Given the description of an element on the screen output the (x, y) to click on. 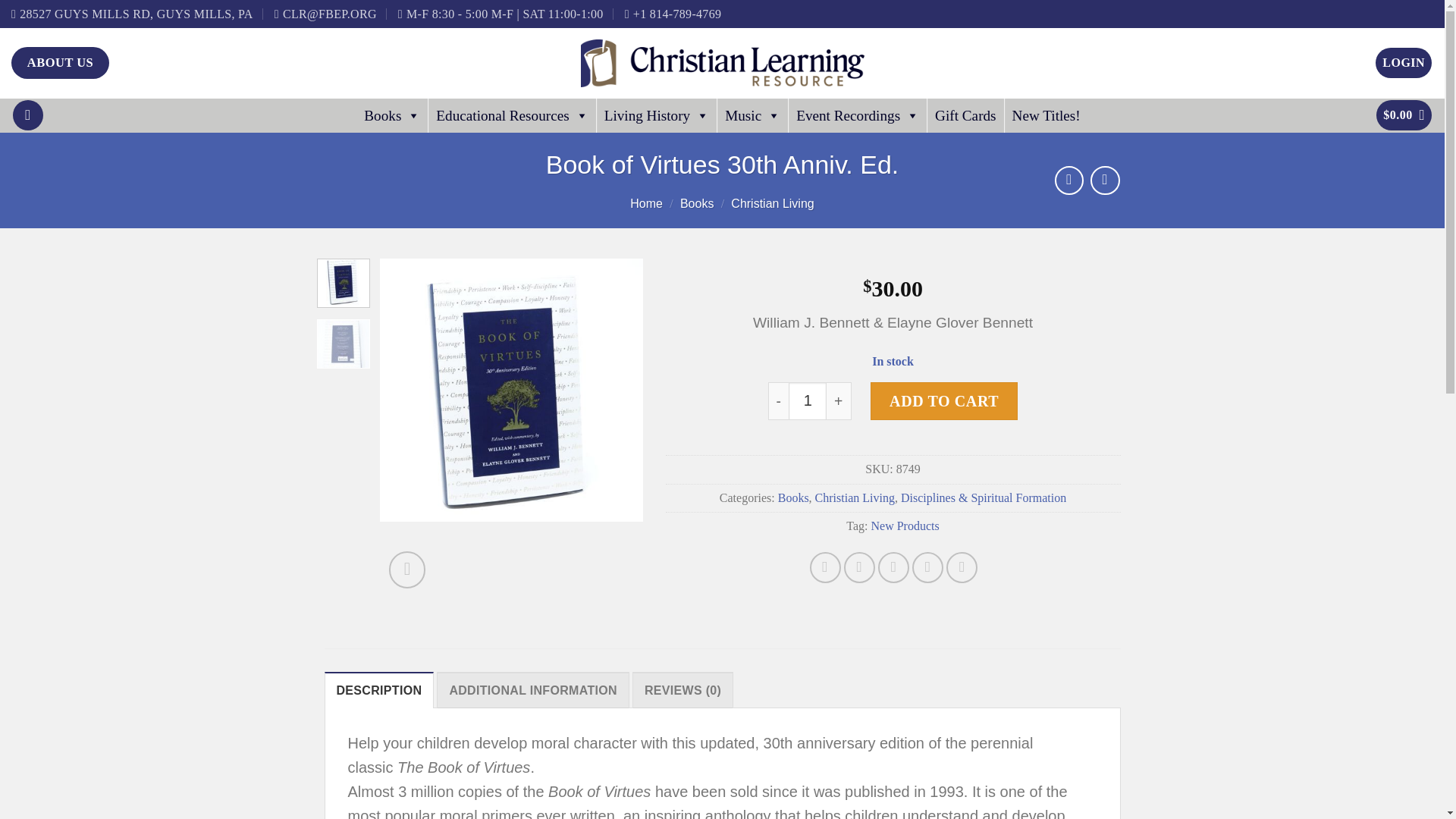
LOGIN (1403, 62)
Christian Learning Resource - Read. Learn. Grow. (722, 63)
ABOUT US (60, 62)
Cart (1403, 114)
Zoom (407, 569)
1 (808, 401)
28527 Guys Mills Rd, Guys Mills, PA 16327 (132, 13)
Books (392, 115)
28527 GUYS MILLS RD, GUYS MILLS, PA (132, 13)
Share on Facebook (825, 567)
